Given the description of an element on the screen output the (x, y) to click on. 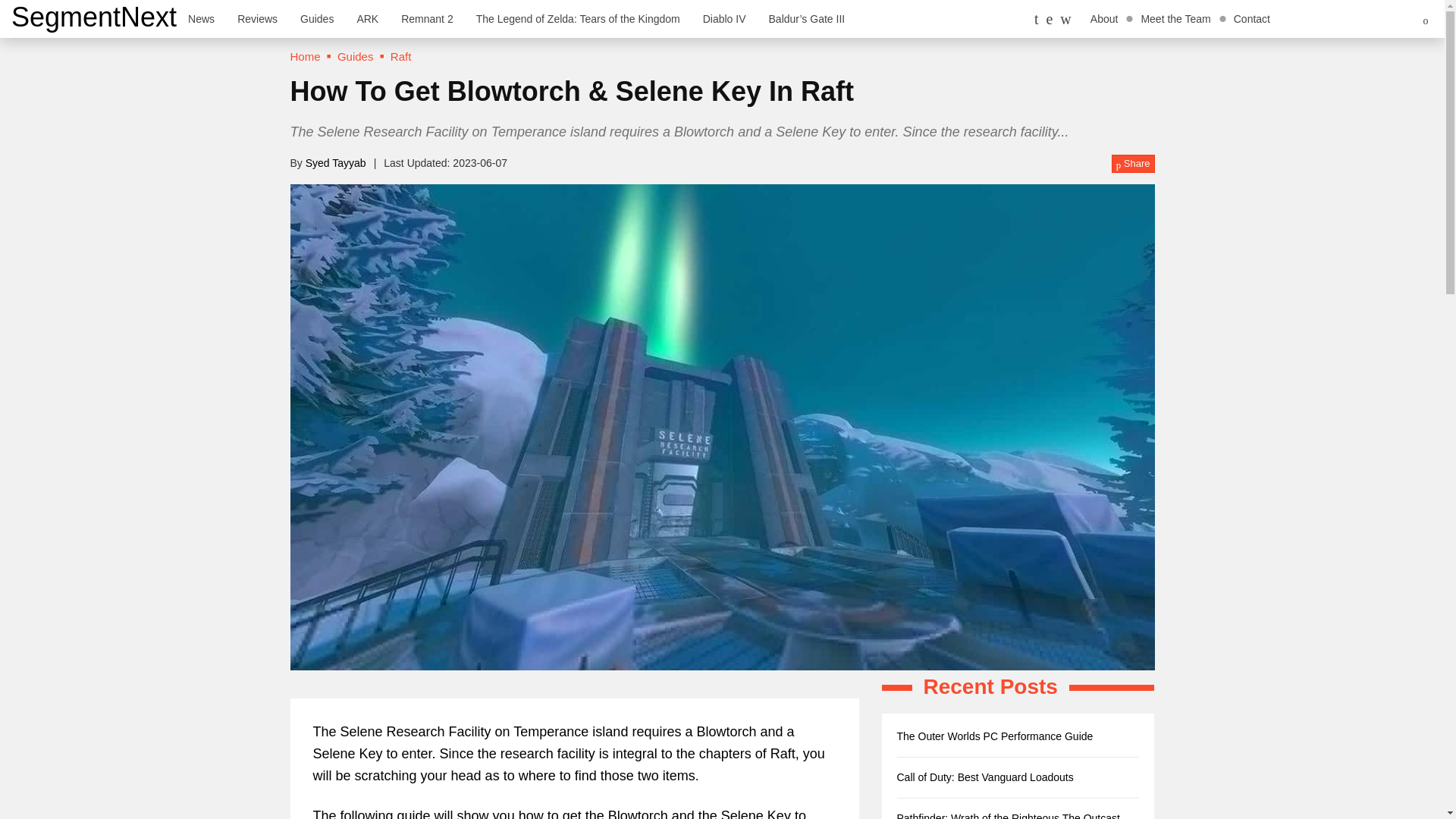
The Legend of Zelda: Tears of the Kingdom (577, 18)
Contact (1252, 18)
Meet the Team (1175, 18)
ARK (367, 18)
Guides (355, 56)
Home (304, 56)
About (1103, 18)
Raft (401, 56)
Share (1133, 163)
Baldur's Gate III (807, 18)
